Given the description of an element on the screen output the (x, y) to click on. 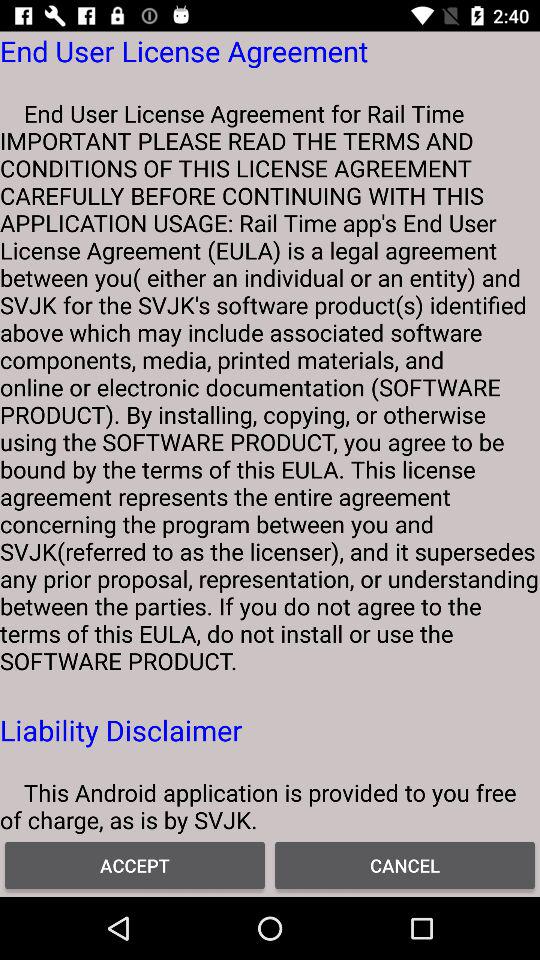
launch the icon below this android application app (405, 864)
